Given the description of an element on the screen output the (x, y) to click on. 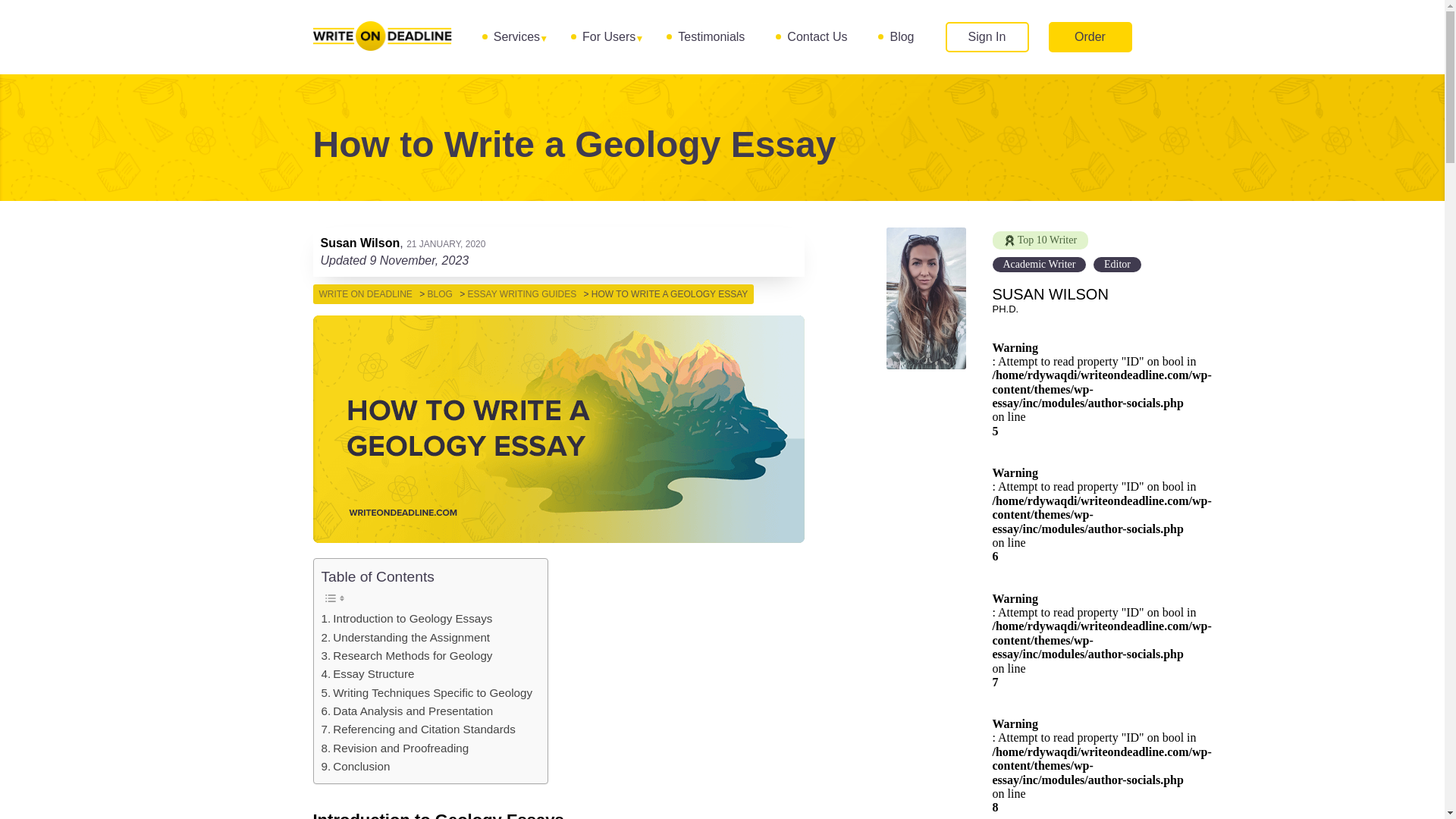
Writing Techniques Specific to Geology (426, 692)
Go to Blog. (440, 294)
Essay Structure (367, 674)
Conclusion (355, 766)
Data Analysis and Presentation (407, 710)
Referencing and Citation Standards (418, 729)
Revision and Proofreading (394, 748)
Research Methods for Geology (407, 656)
Introduction to Geology Essays (407, 618)
Go to Write On Deadline. (365, 294)
Services (516, 36)
Understanding the Assignment (405, 637)
Go to the Essay Writing Guides category archives. (521, 294)
